Given the description of an element on the screen output the (x, y) to click on. 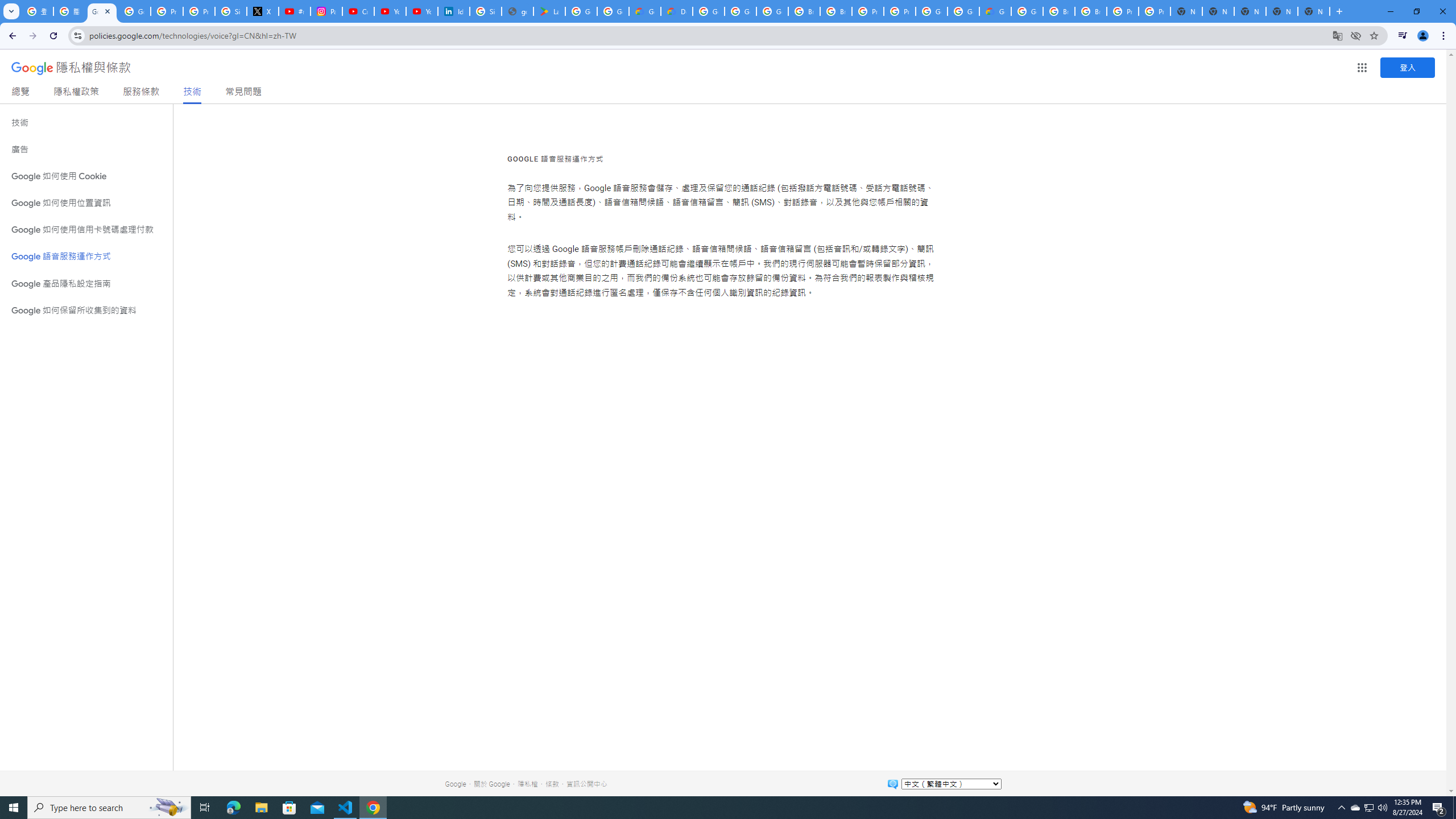
#nbabasketballhighlights - YouTube (294, 11)
Translate this page (1336, 35)
